Given the description of an element on the screen output the (x, y) to click on. 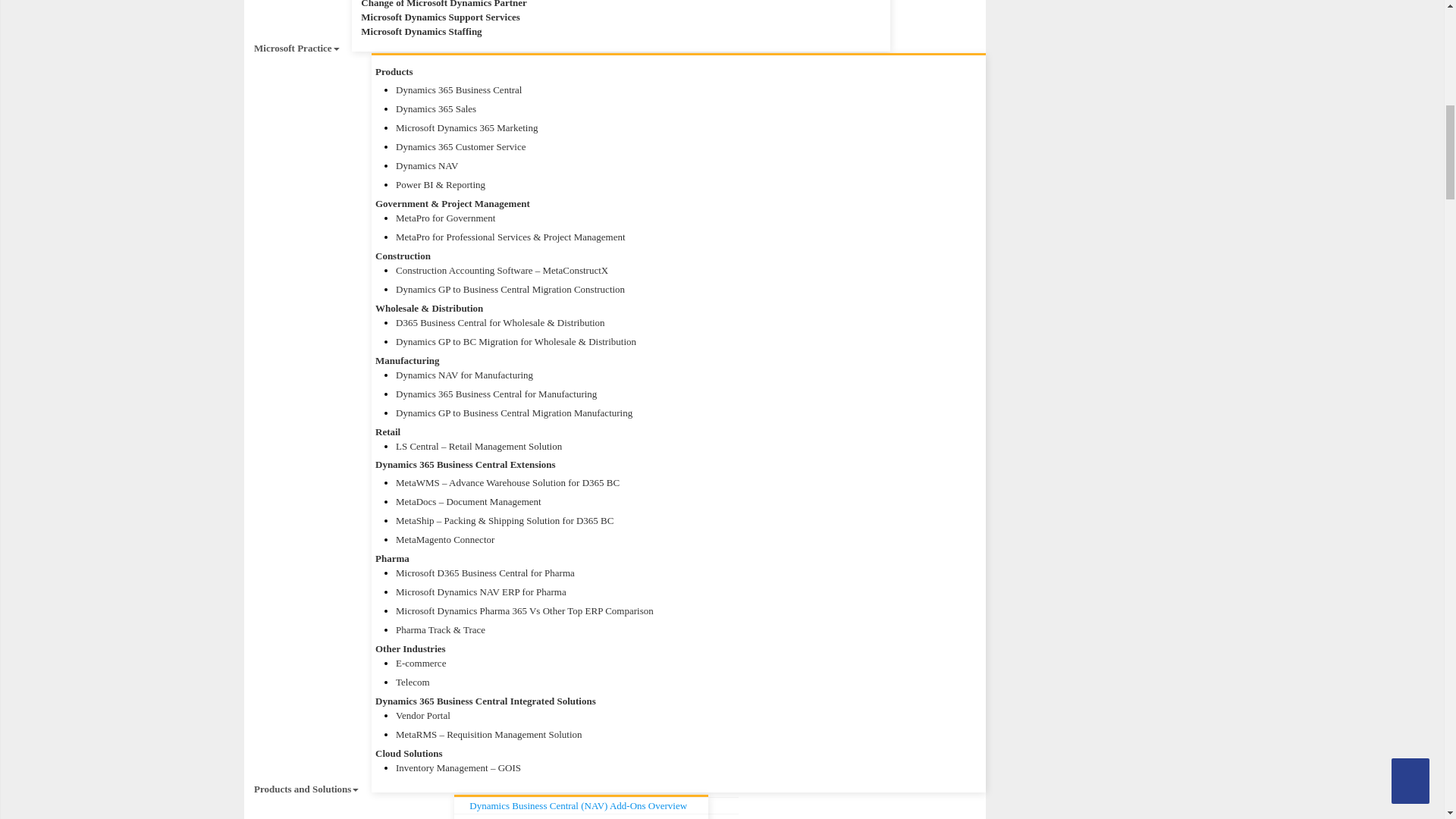
Microsoft Practice (296, 48)
